Given the description of an element on the screen output the (x, y) to click on. 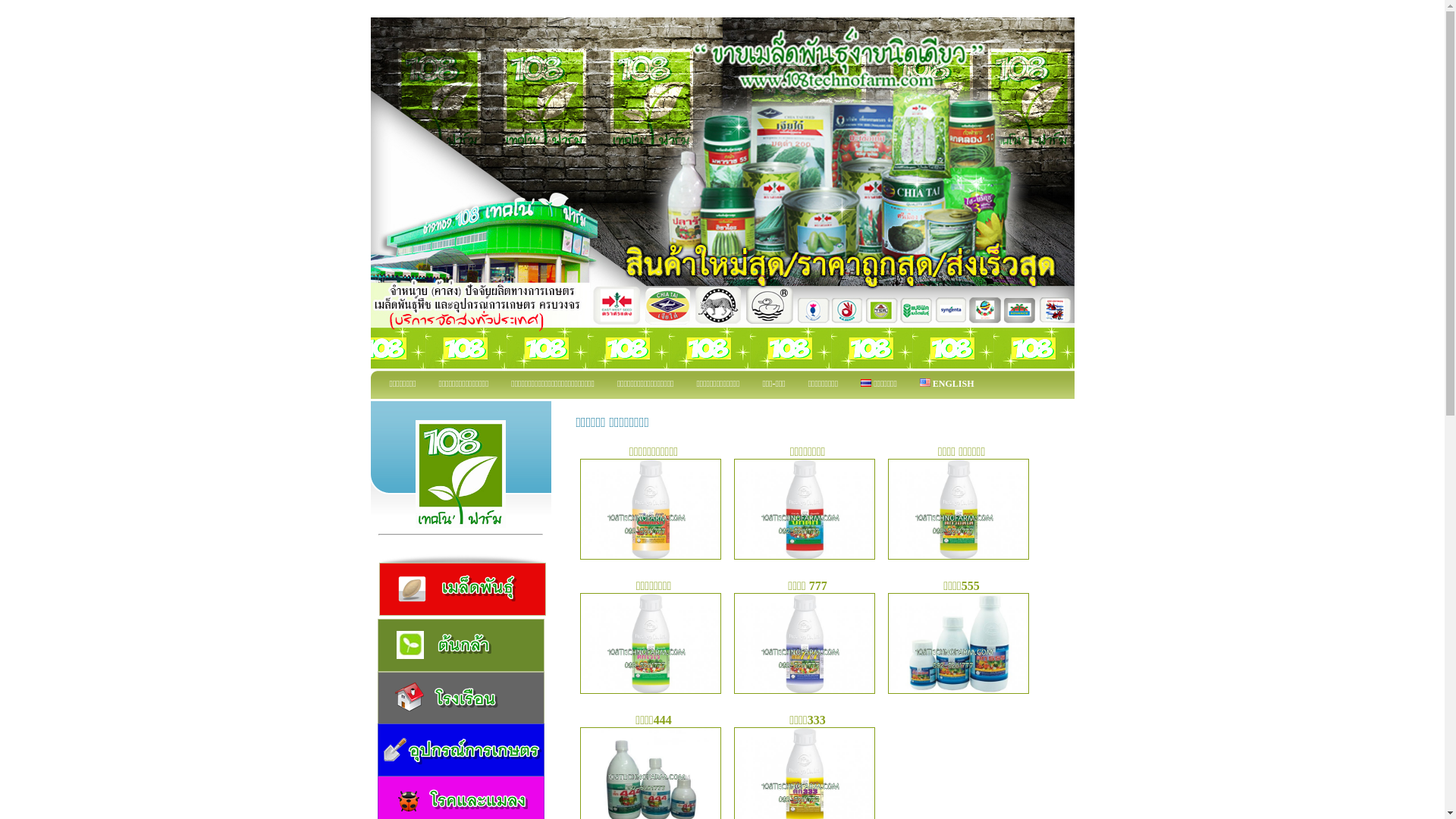
 ENGLISH Element type: text (946, 384)
